Given the description of an element on the screen output the (x, y) to click on. 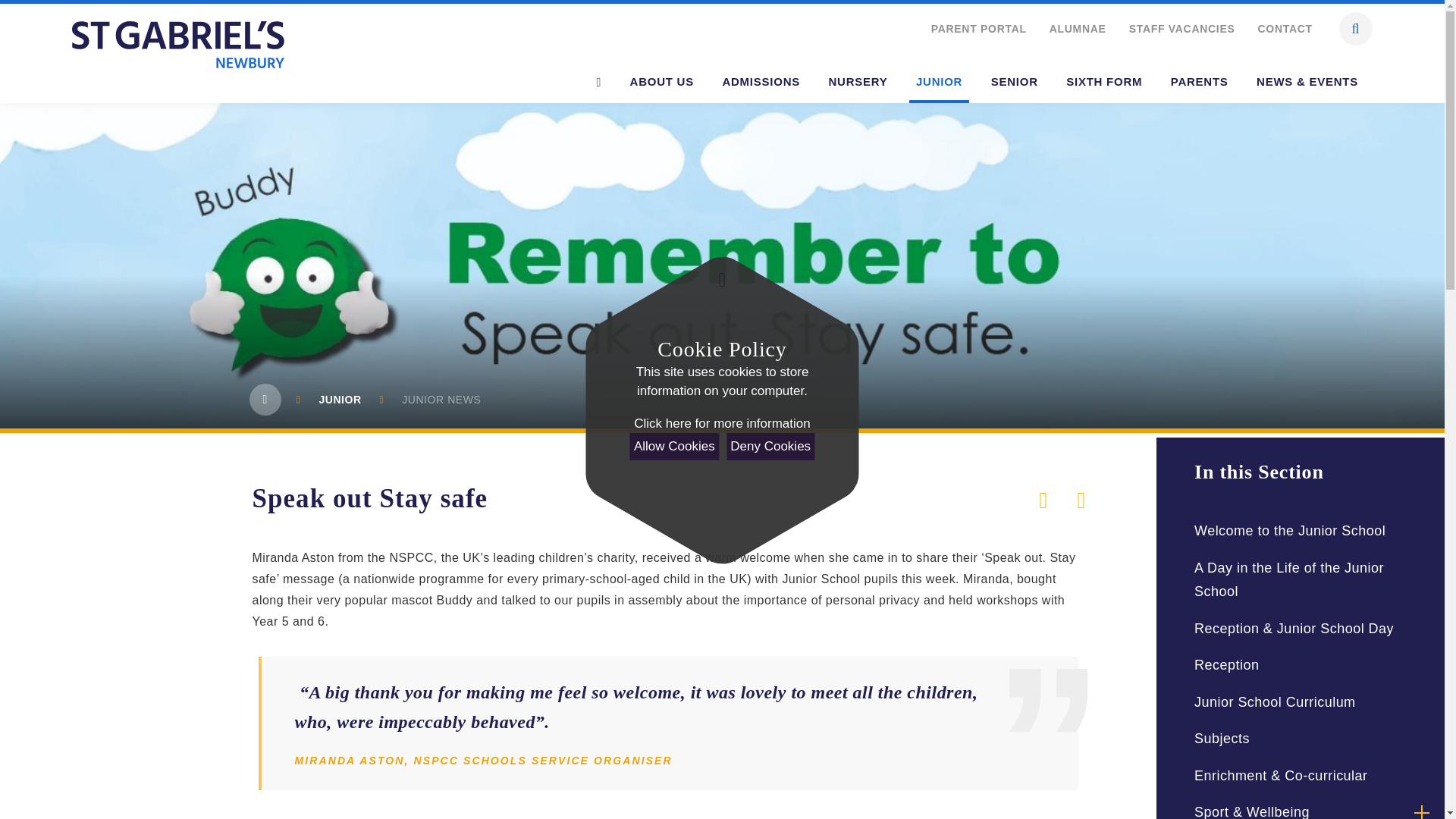
Deny Cookies (769, 446)
ADMISSIONS (760, 81)
ABOUT US (661, 81)
Allow Cookies (674, 446)
See cookie policy (721, 424)
